Given the description of an element on the screen output the (x, y) to click on. 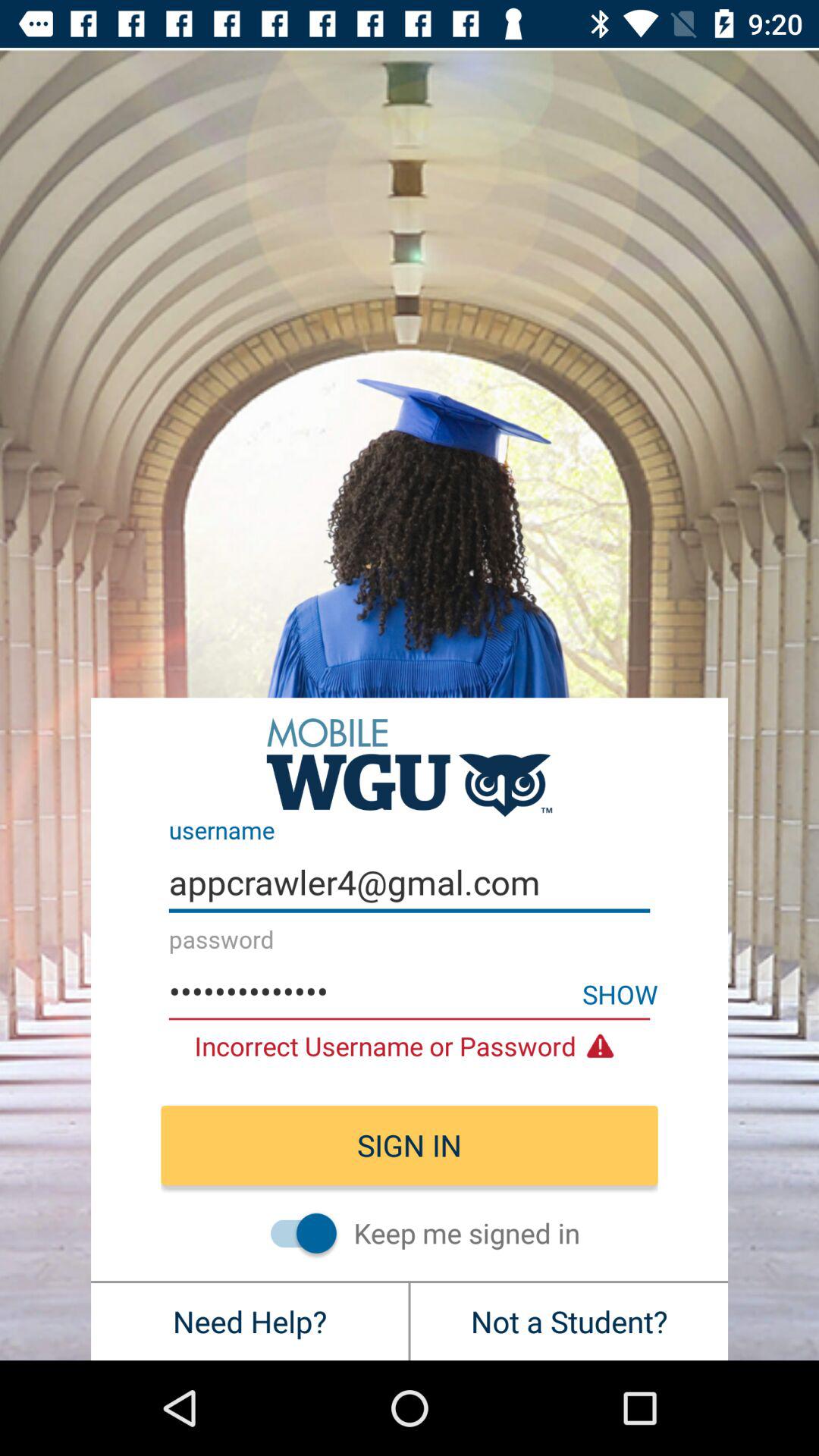
click icon above the need help? item (295, 1232)
